Given the description of an element on the screen output the (x, y) to click on. 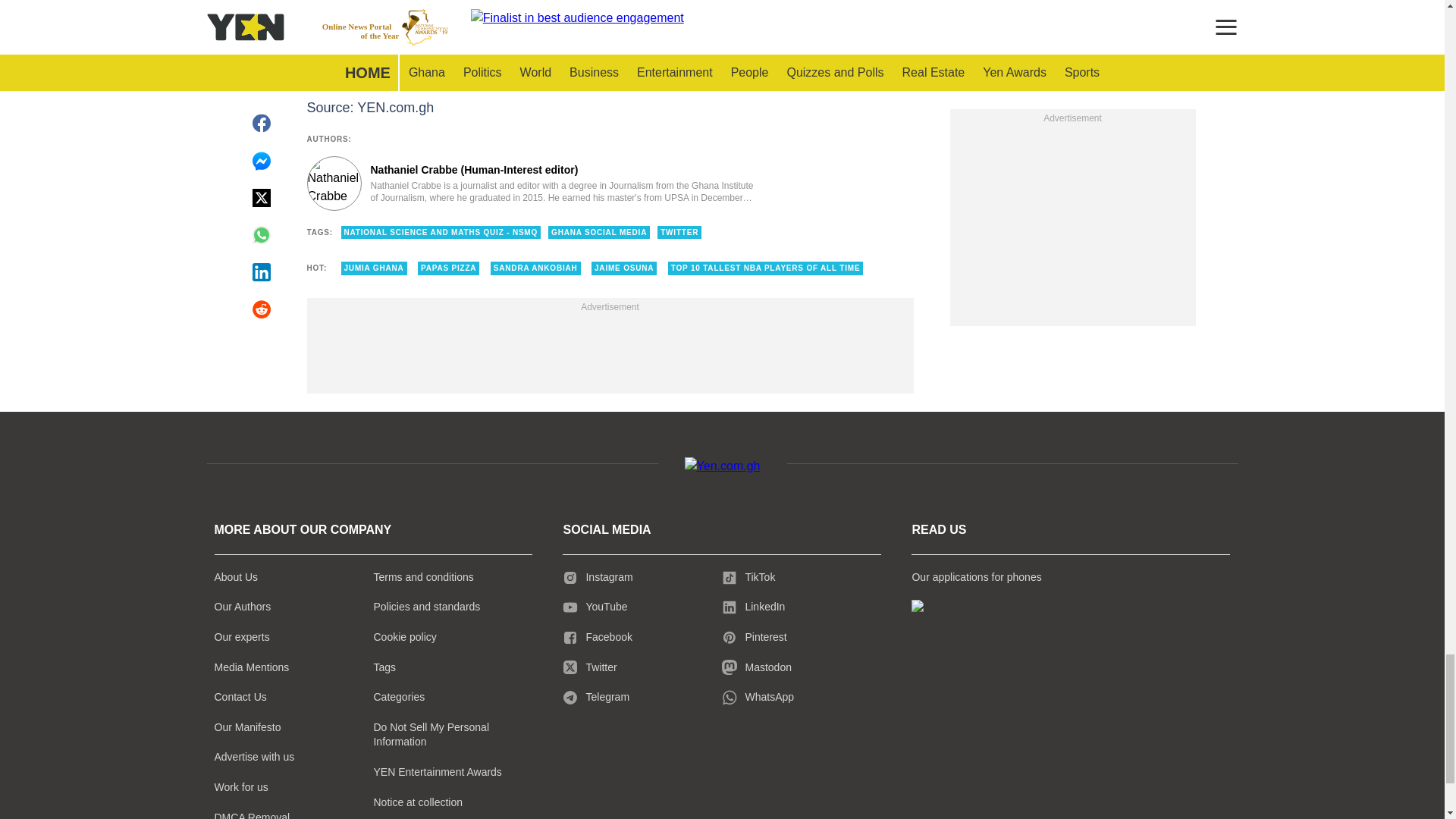
Author page (533, 183)
